Given the description of an element on the screen output the (x, y) to click on. 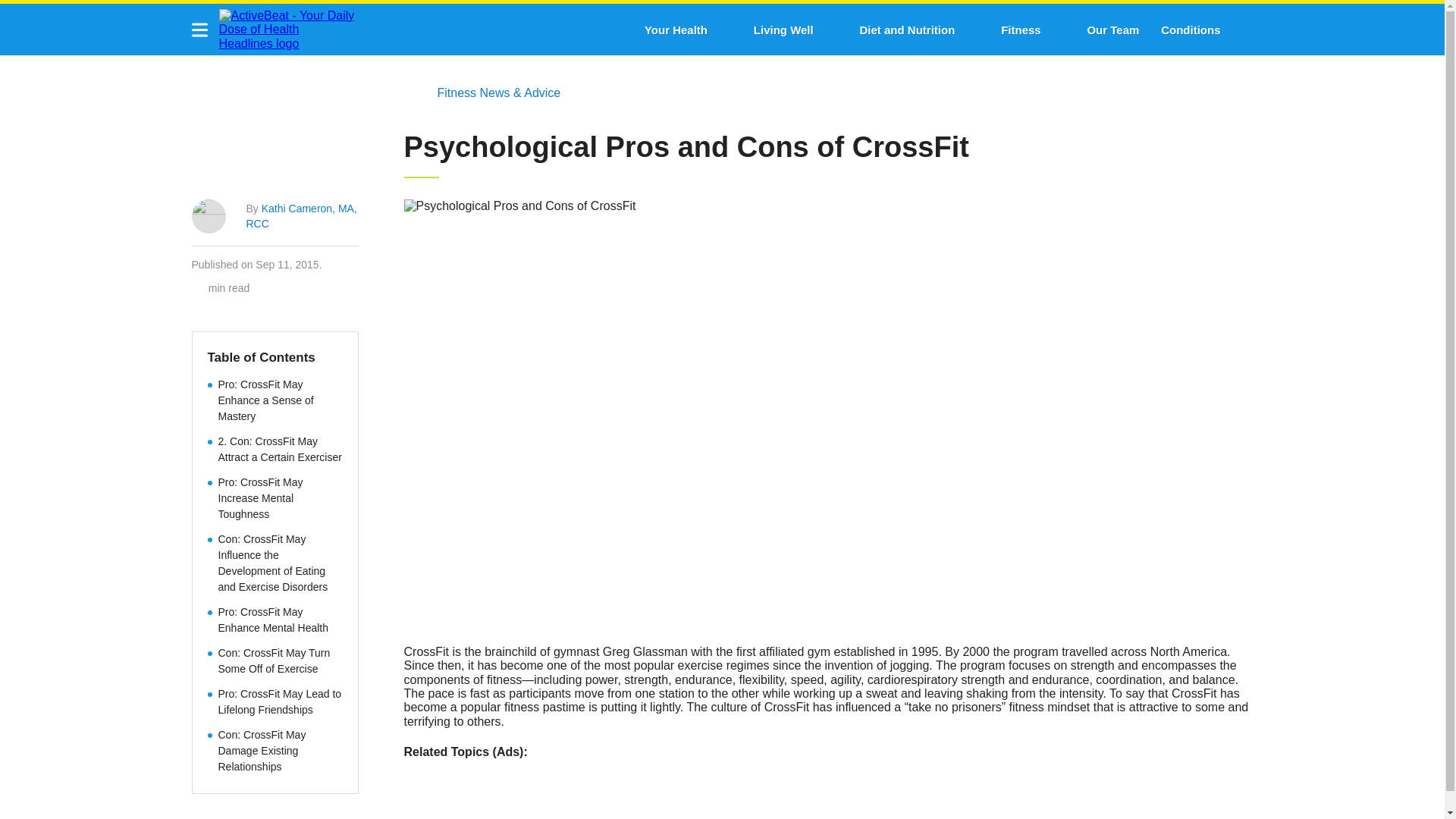
Your Health (676, 29)
